Given the description of an element on the screen output the (x, y) to click on. 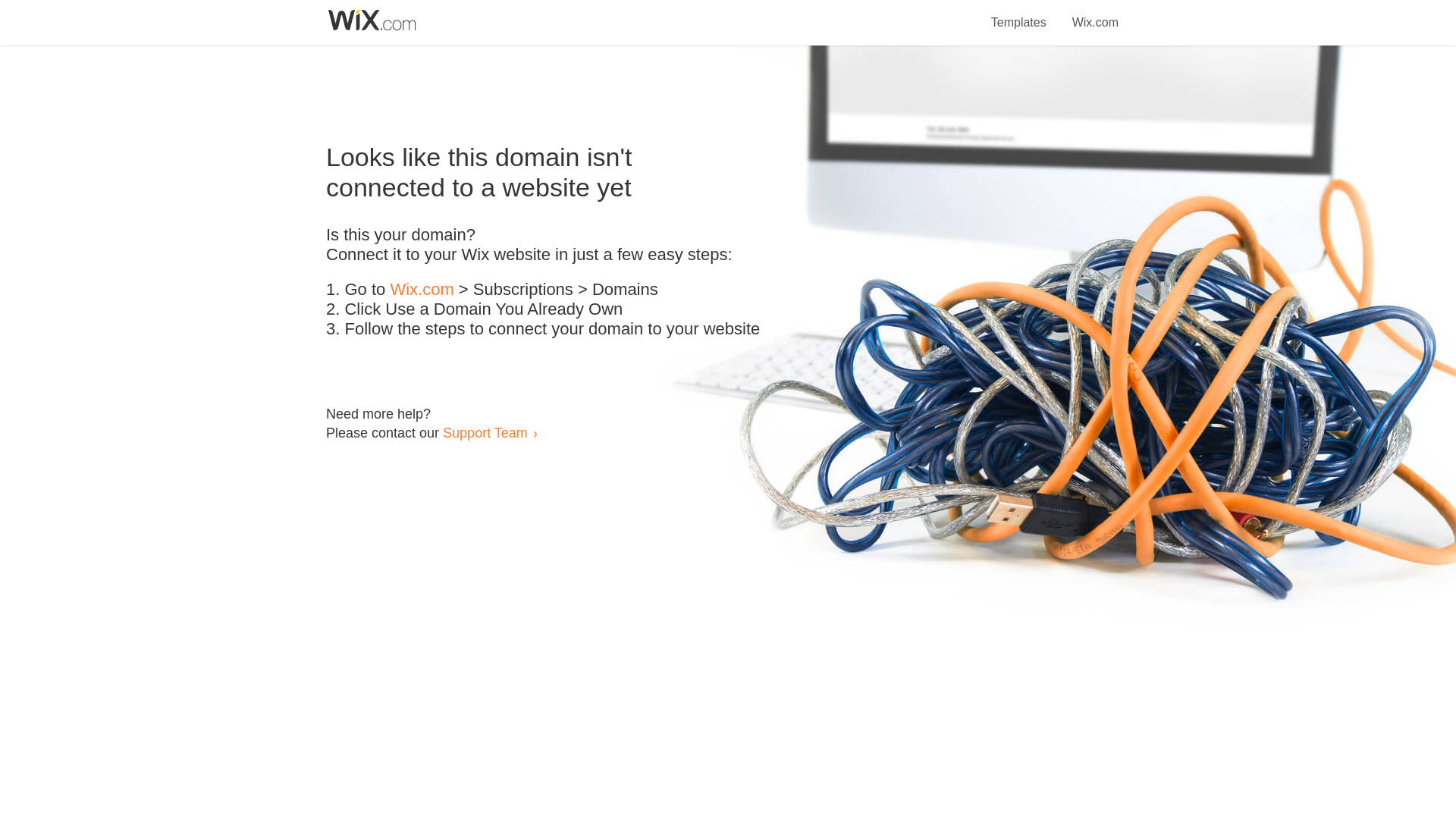
Templates (1018, 14)
Wix.com (421, 289)
Wix.com (1095, 14)
Support Team (484, 432)
